Given the description of an element on the screen output the (x, y) to click on. 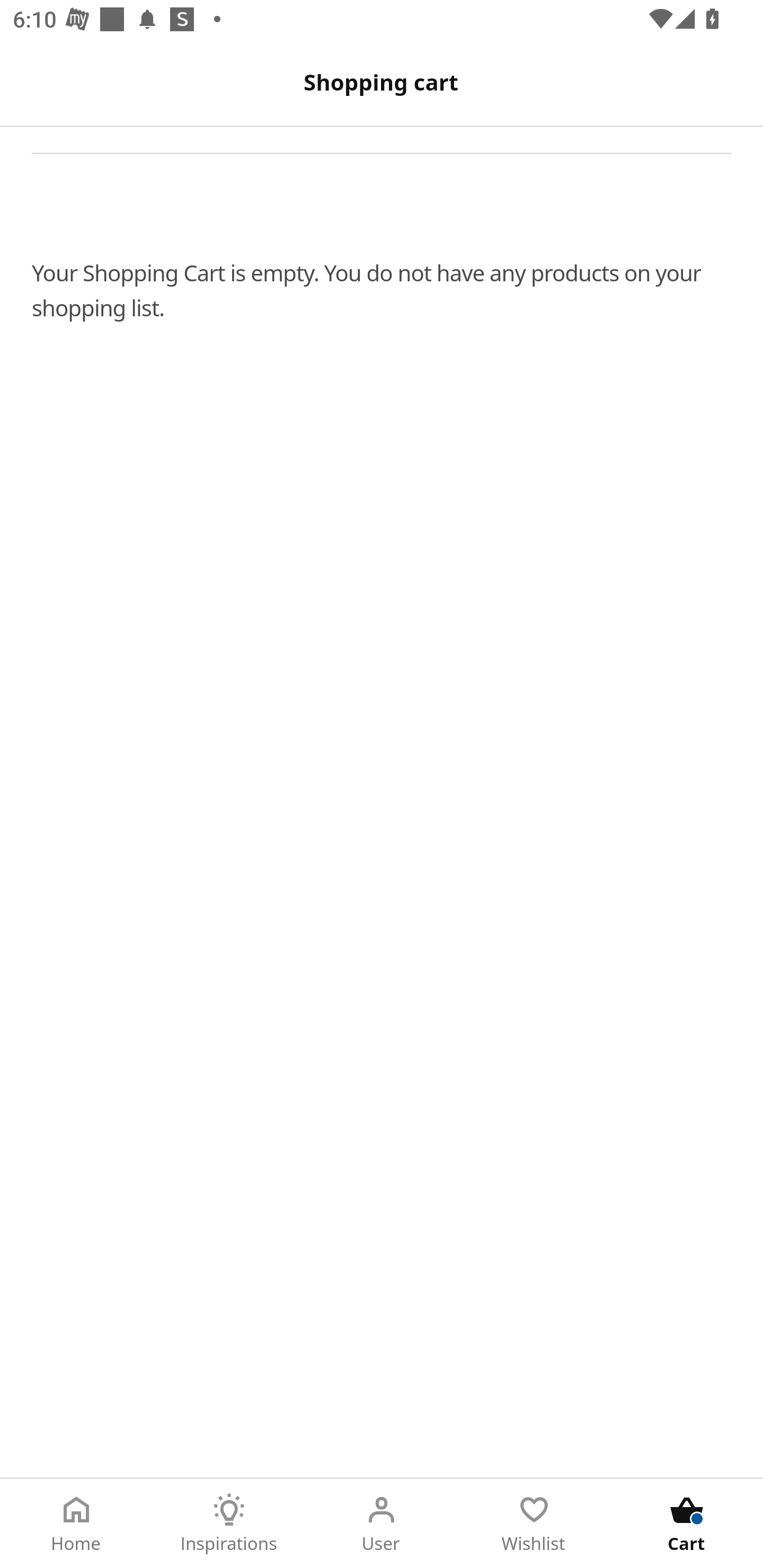
Home
Tab 1 of 5 (76, 1522)
Inspirations
Tab 2 of 5 (228, 1522)
User
Tab 3 of 5 (381, 1522)
Wishlist
Tab 4 of 5 (533, 1522)
Cart
Tab 5 of 5 (686, 1522)
